Given the description of an element on the screen output the (x, y) to click on. 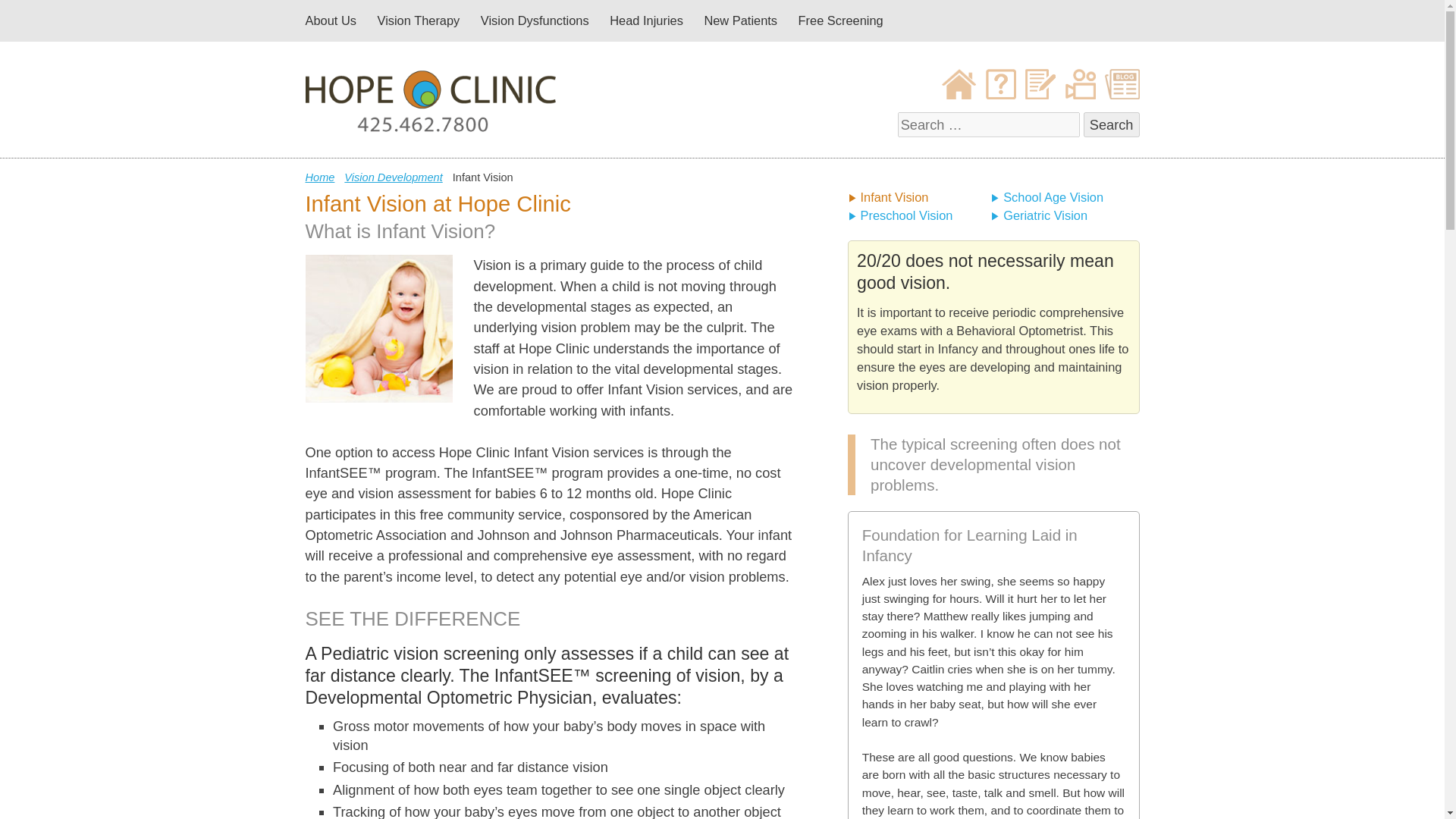
Search (1111, 124)
Our Patient Forms (1039, 94)
Frequently Asked Questions (1000, 94)
Home (319, 177)
Vision Dysfunctions (534, 20)
Head Injuries (646, 20)
Check out our Videos (1080, 94)
Vision Therapy (418, 20)
Search (1111, 124)
New Patients (740, 20)
